Given the description of an element on the screen output the (x, y) to click on. 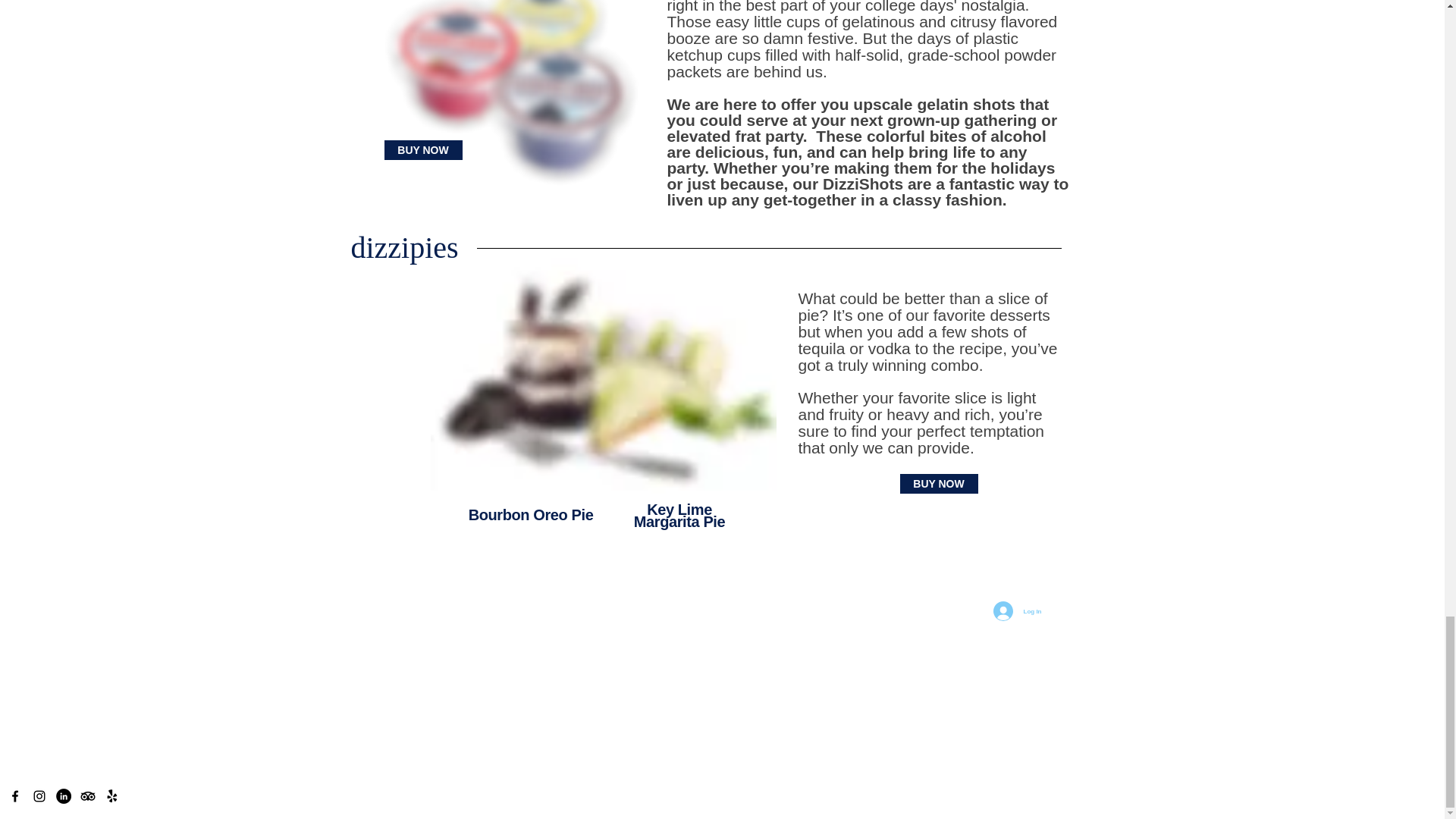
BUY NOW (938, 483)
BUY NOW (422, 149)
Log In (1017, 611)
